Given the description of an element on the screen output the (x, y) to click on. 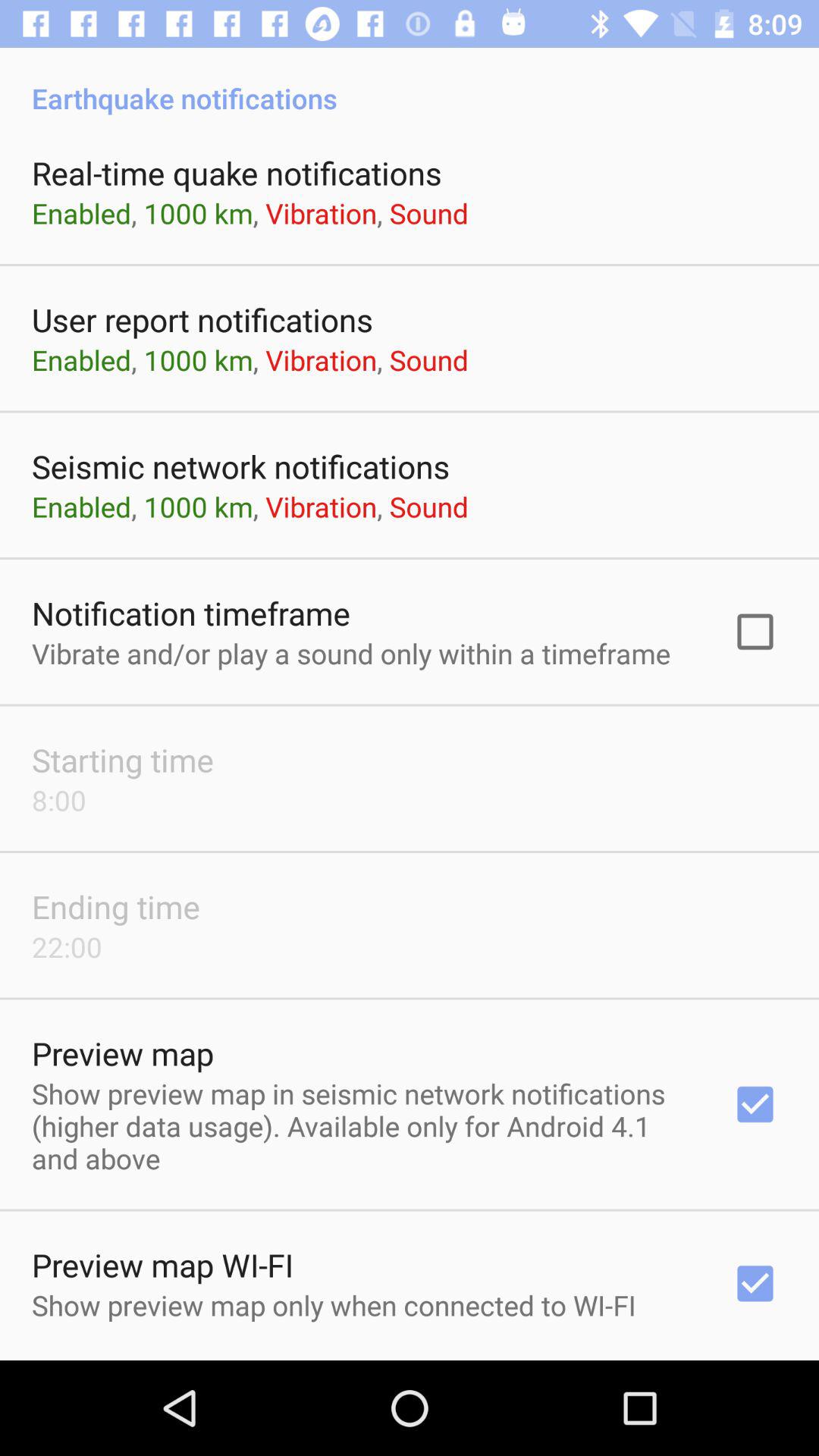
select app above the enabled 1000 km (236, 172)
